Given the description of an element on the screen output the (x, y) to click on. 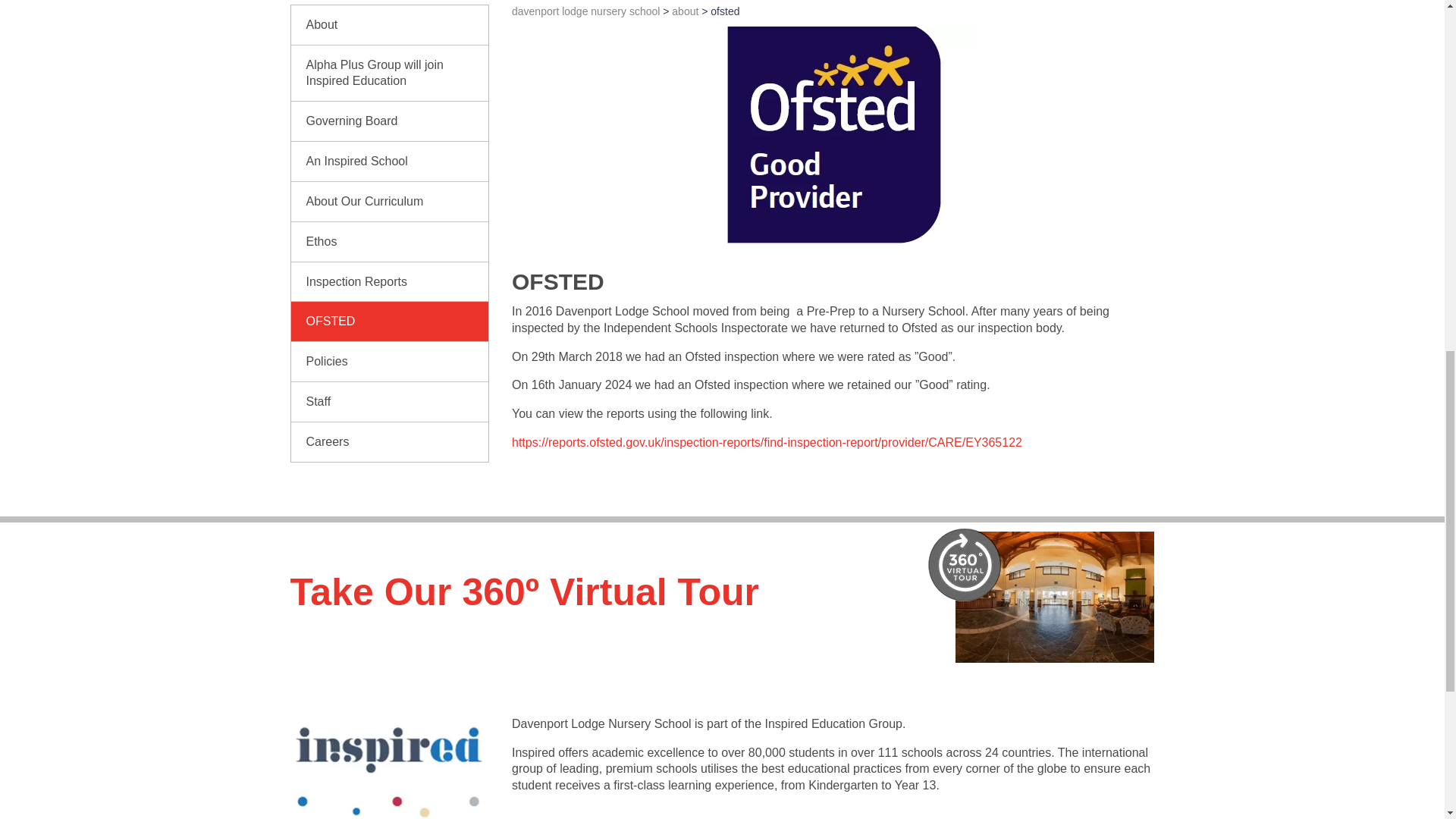
Ethos (390, 241)
Inspection Reports (390, 282)
Governing Board (390, 120)
An Inspired School (390, 160)
About (390, 24)
davenport lodge nursery school (585, 10)
Careers (390, 441)
Policies (390, 361)
OFSTED (390, 321)
Go to Davenport Lodge Nursery School. (585, 10)
